Given the description of an element on the screen output the (x, y) to click on. 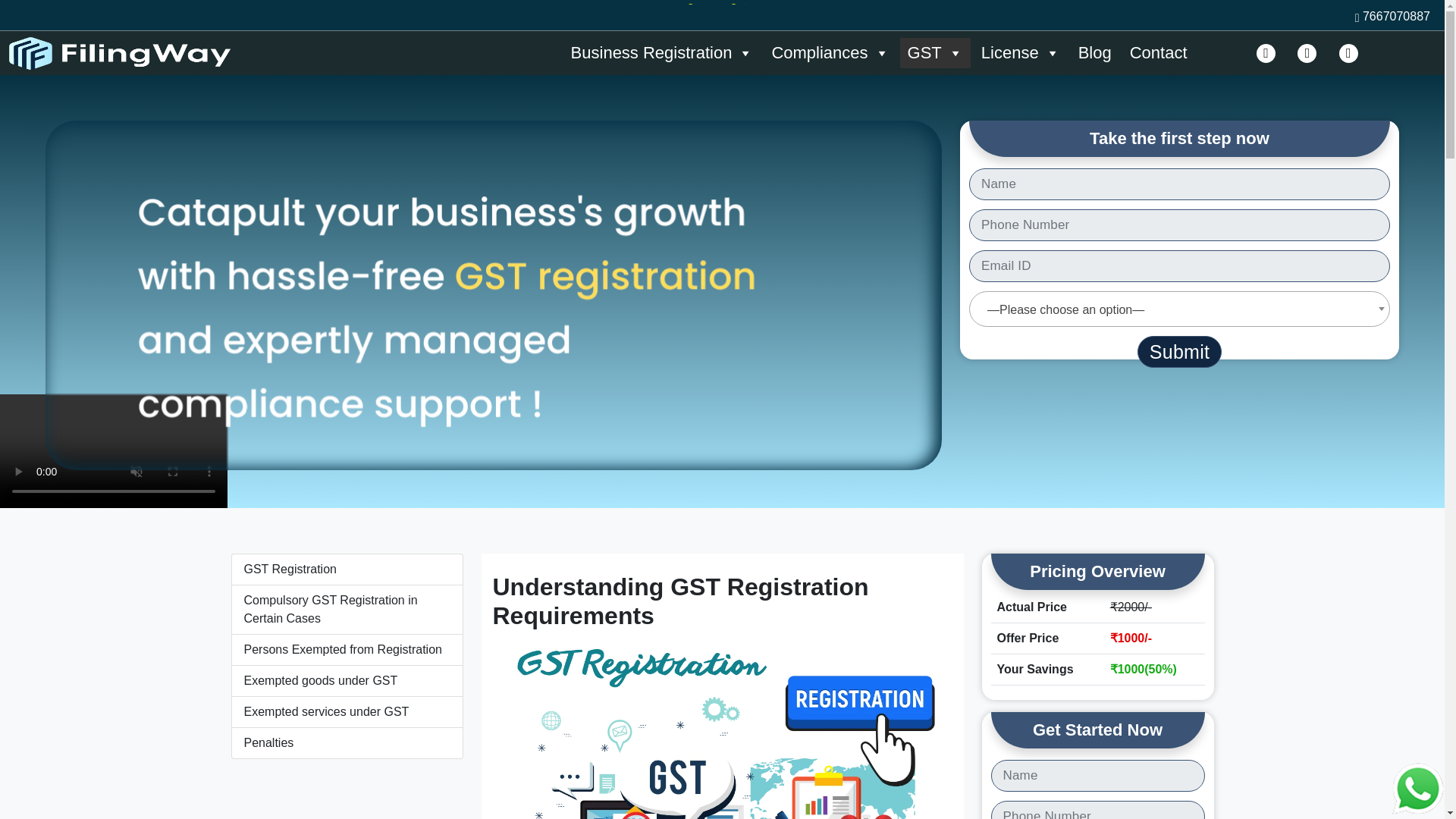
Compliances (829, 52)
 7667070887 (1392, 16)
GST (935, 52)
Submit (1179, 351)
Business Registration (662, 52)
